Given the description of an element on the screen output the (x, y) to click on. 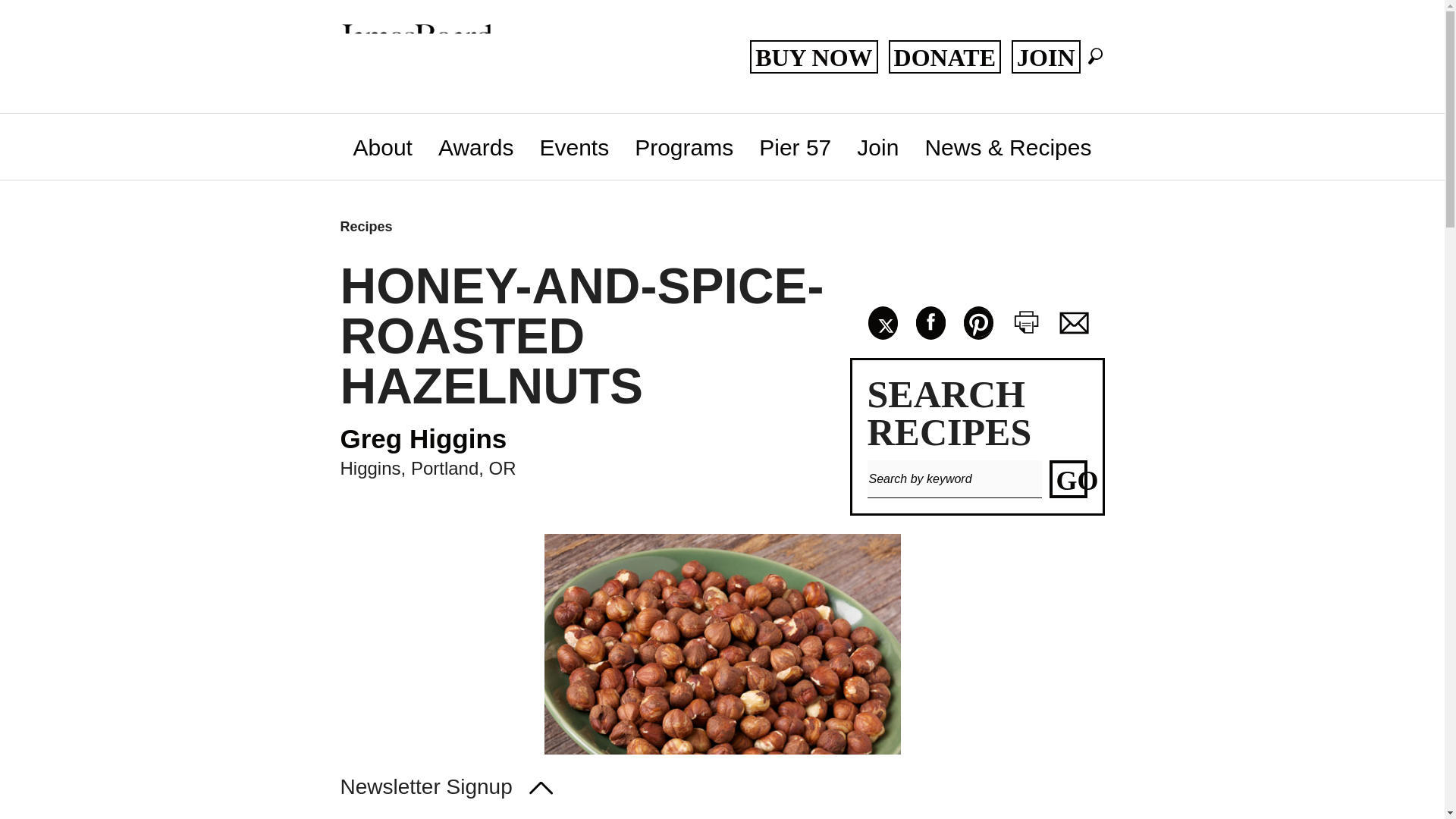
About (382, 146)
Programs (683, 146)
JOIN (1045, 55)
BUY NOW (813, 55)
DONATE (944, 55)
Events (573, 146)
Search (1095, 55)
Awards (476, 146)
